Given the description of an element on the screen output the (x, y) to click on. 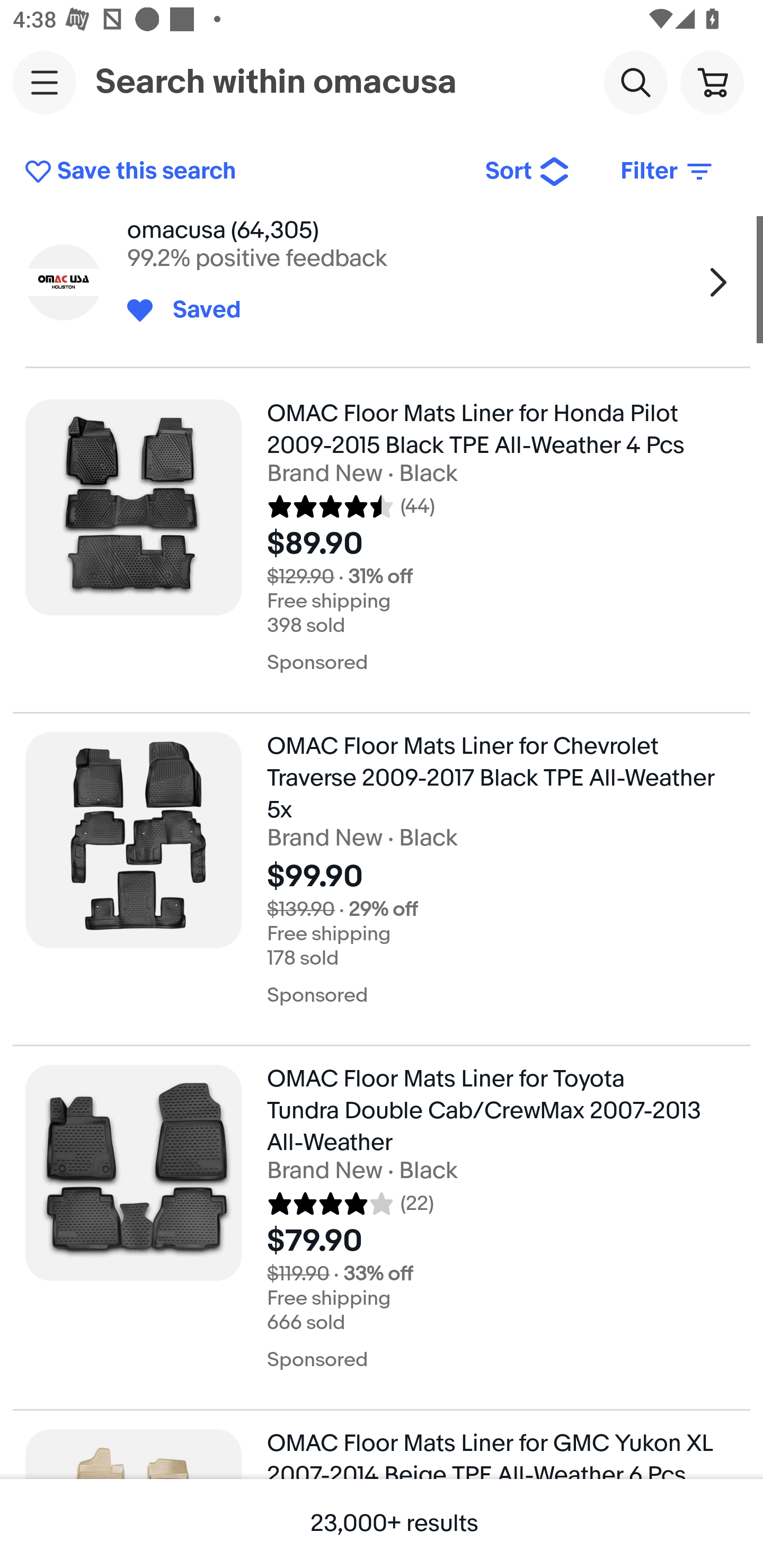
Main navigation, open (44, 82)
Search (635, 81)
Cart button shopping cart (711, 81)
Save this search (241, 171)
Sort (527, 171)
Filter (667, 171)
omacusa (64,305) 99.2% positive feedback Saved (381, 282)
Saved (197, 310)
